Given the description of an element on the screen output the (x, y) to click on. 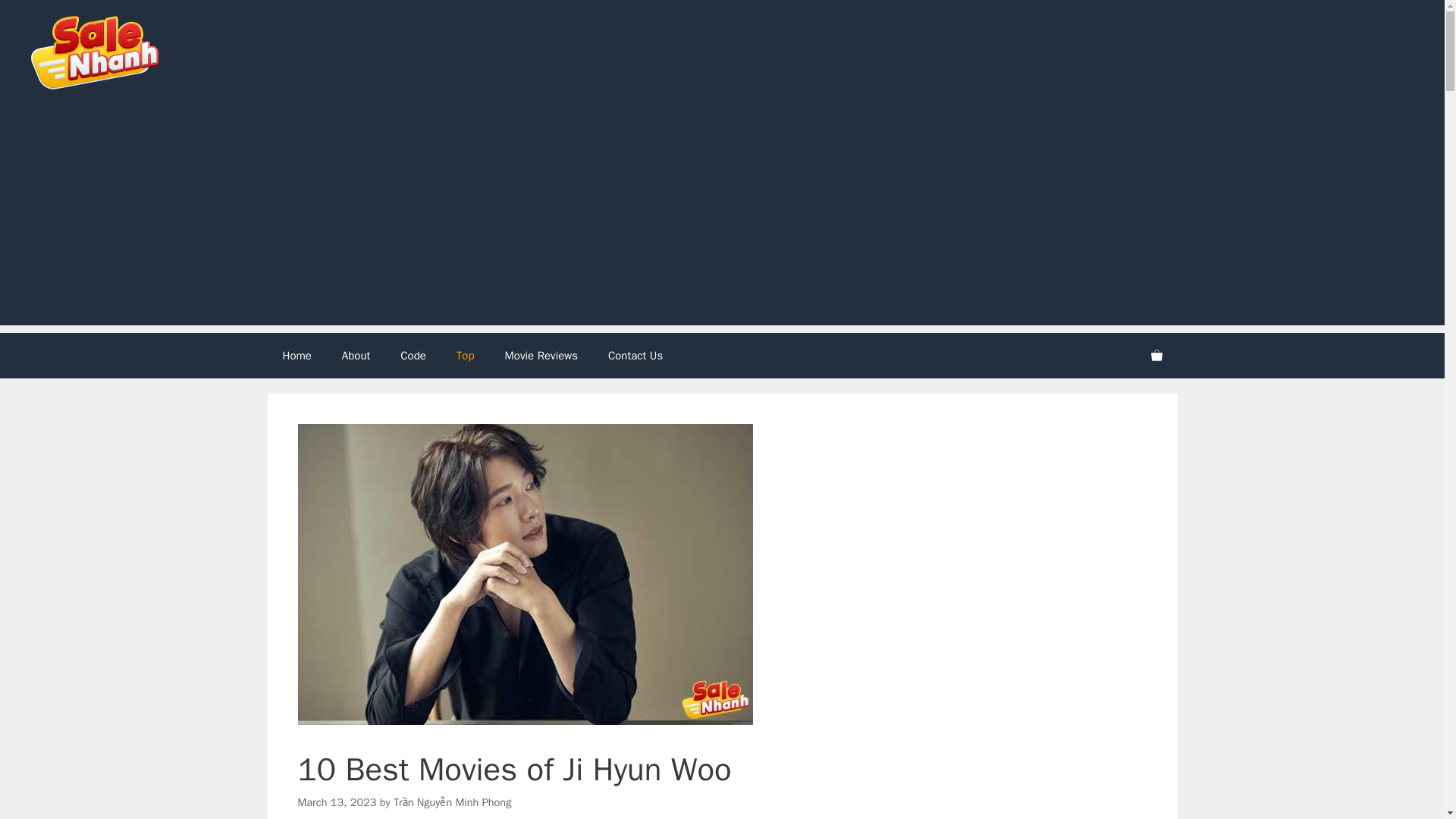
Code (413, 355)
About (355, 355)
Home (296, 355)
Movie Reviews (540, 355)
View your shopping cart (1156, 355)
Contact Us (635, 355)
Top (465, 355)
